Given the description of an element on the screen output the (x, y) to click on. 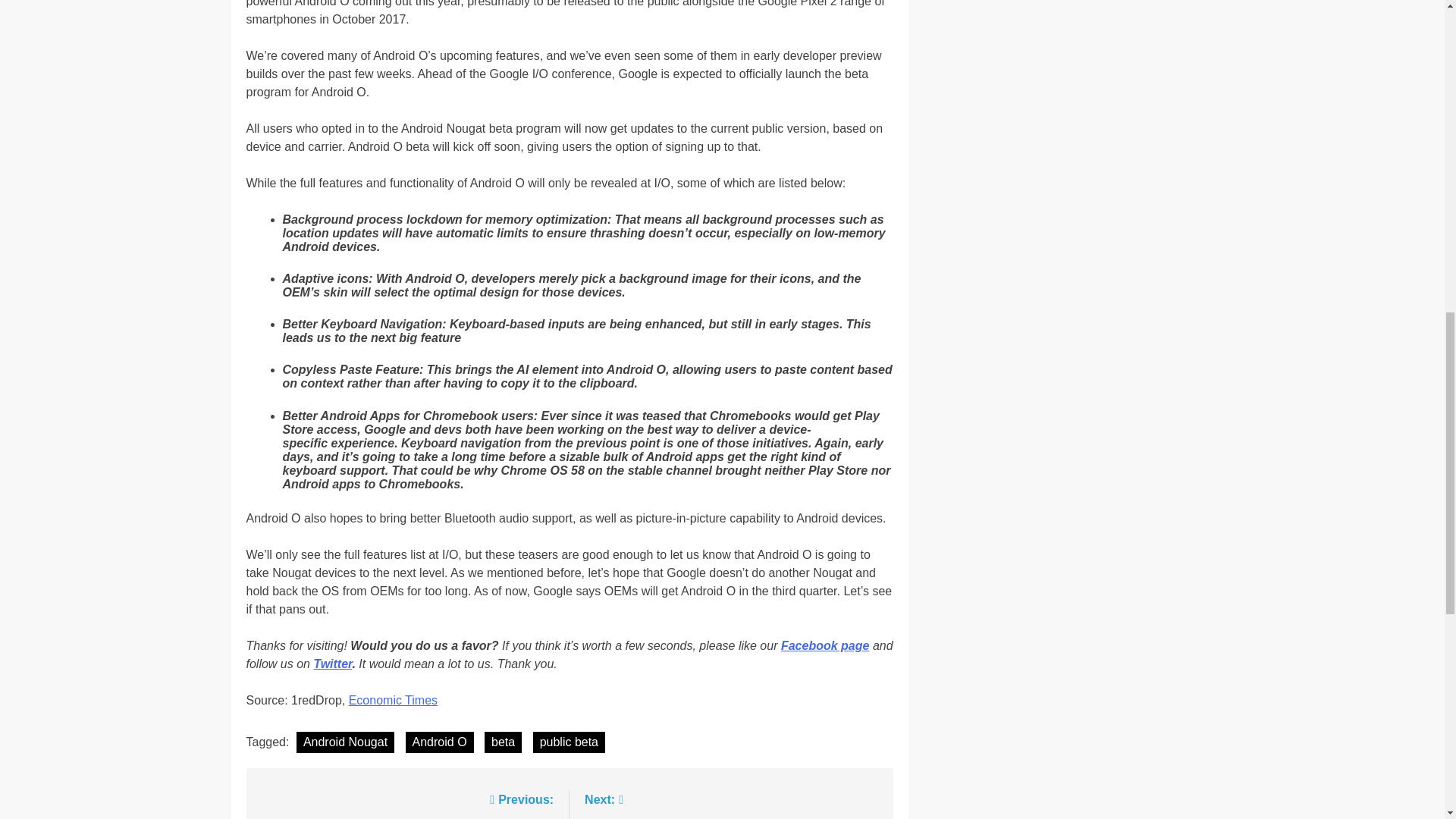
Facebook page (824, 645)
